Given the description of an element on the screen output the (x, y) to click on. 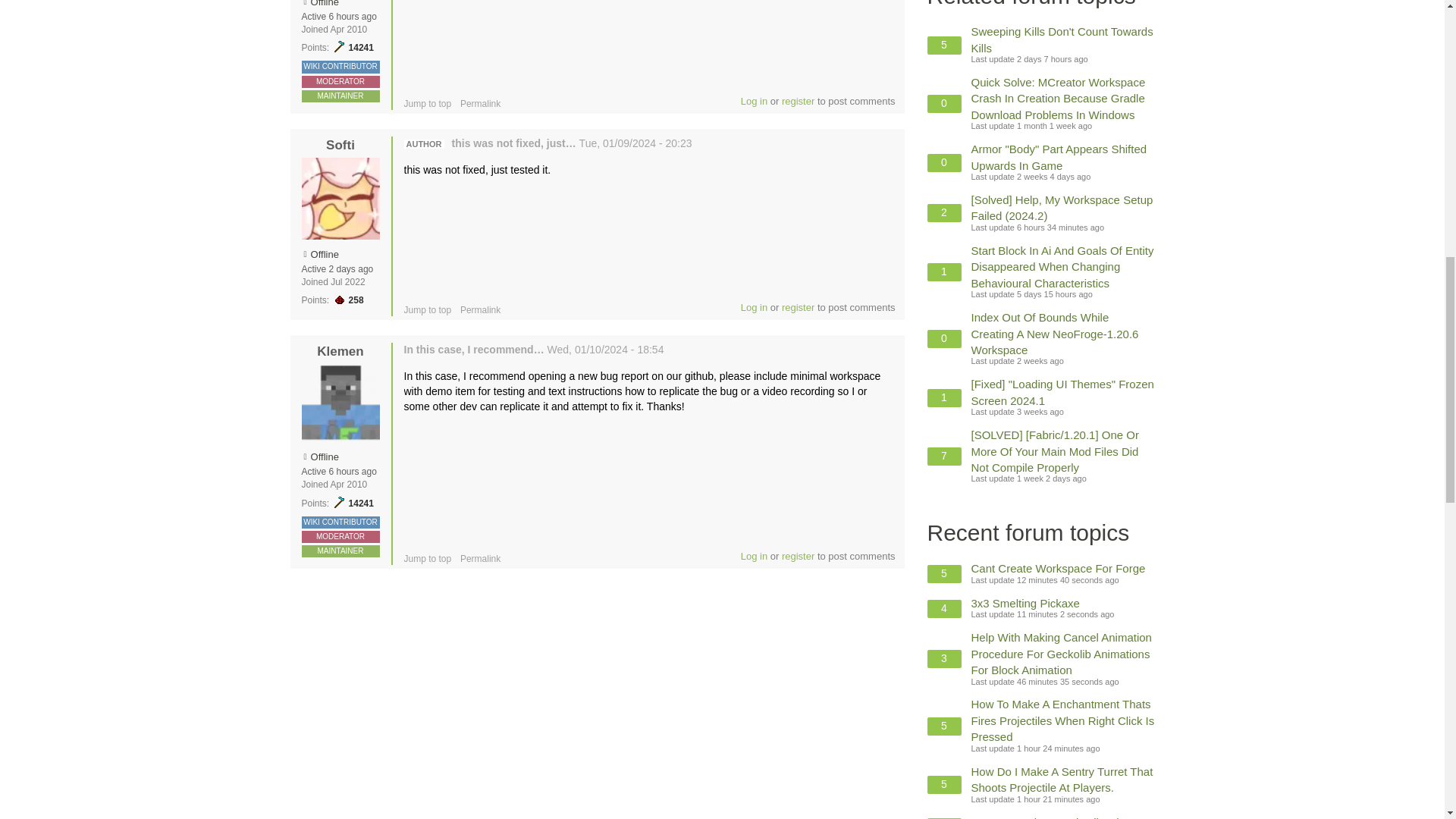
WIKI CONTRIBUTOR (339, 521)
View user profile (339, 350)
register (797, 101)
MODERATOR (340, 80)
Log in (754, 307)
Jump to top of page (427, 103)
Log in (754, 101)
Jump to top (427, 103)
WIKI CONTRIBUTOR (339, 66)
View user profile (340, 145)
Klemen (339, 350)
MAINTAINER (340, 95)
Jump to top (427, 309)
Link to this comment (480, 309)
register (797, 307)
